Given the description of an element on the screen output the (x, y) to click on. 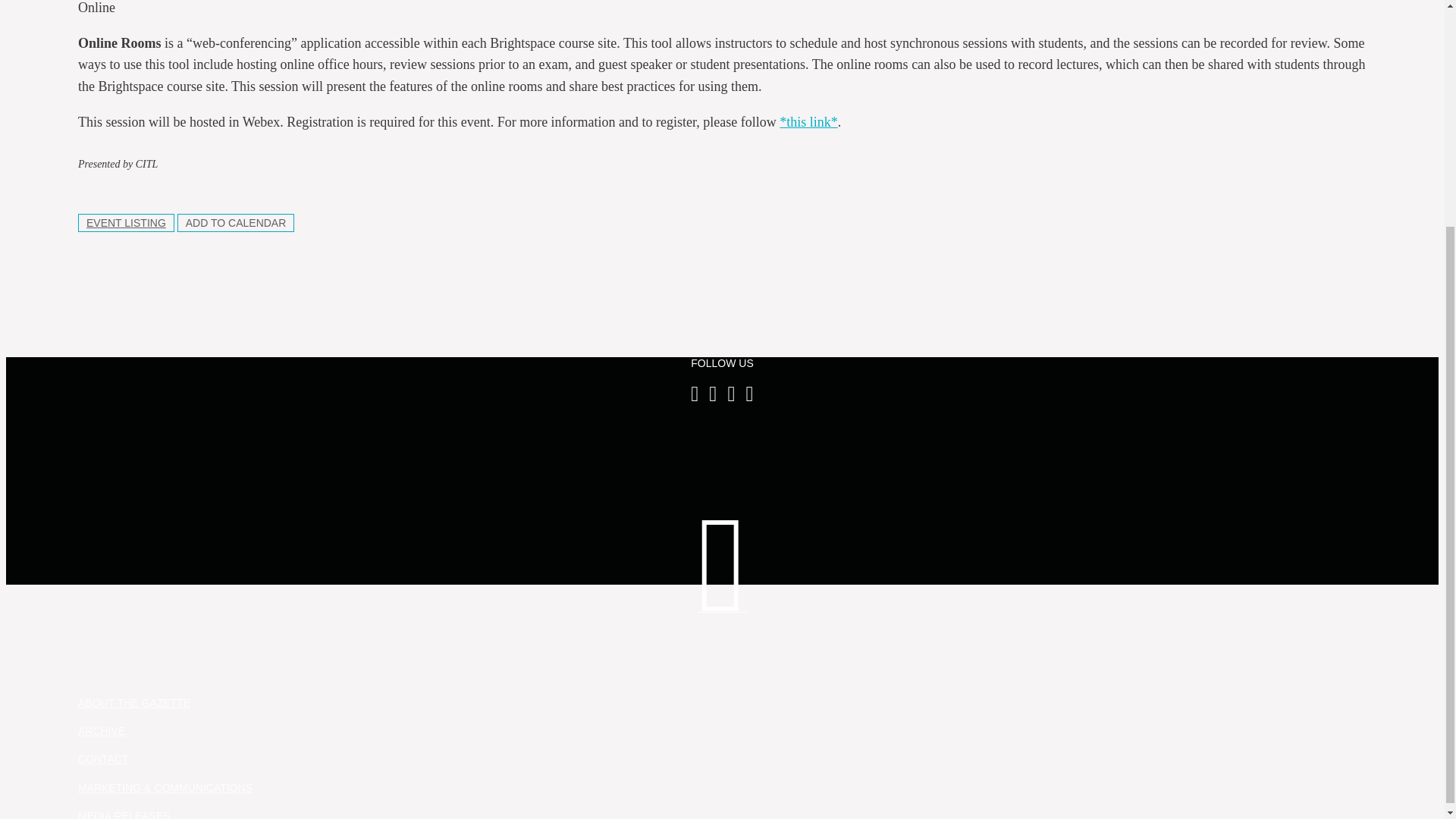
ADD TO CALENDAR (236, 222)
EVENT LISTING (126, 222)
